Given the description of an element on the screen output the (x, y) to click on. 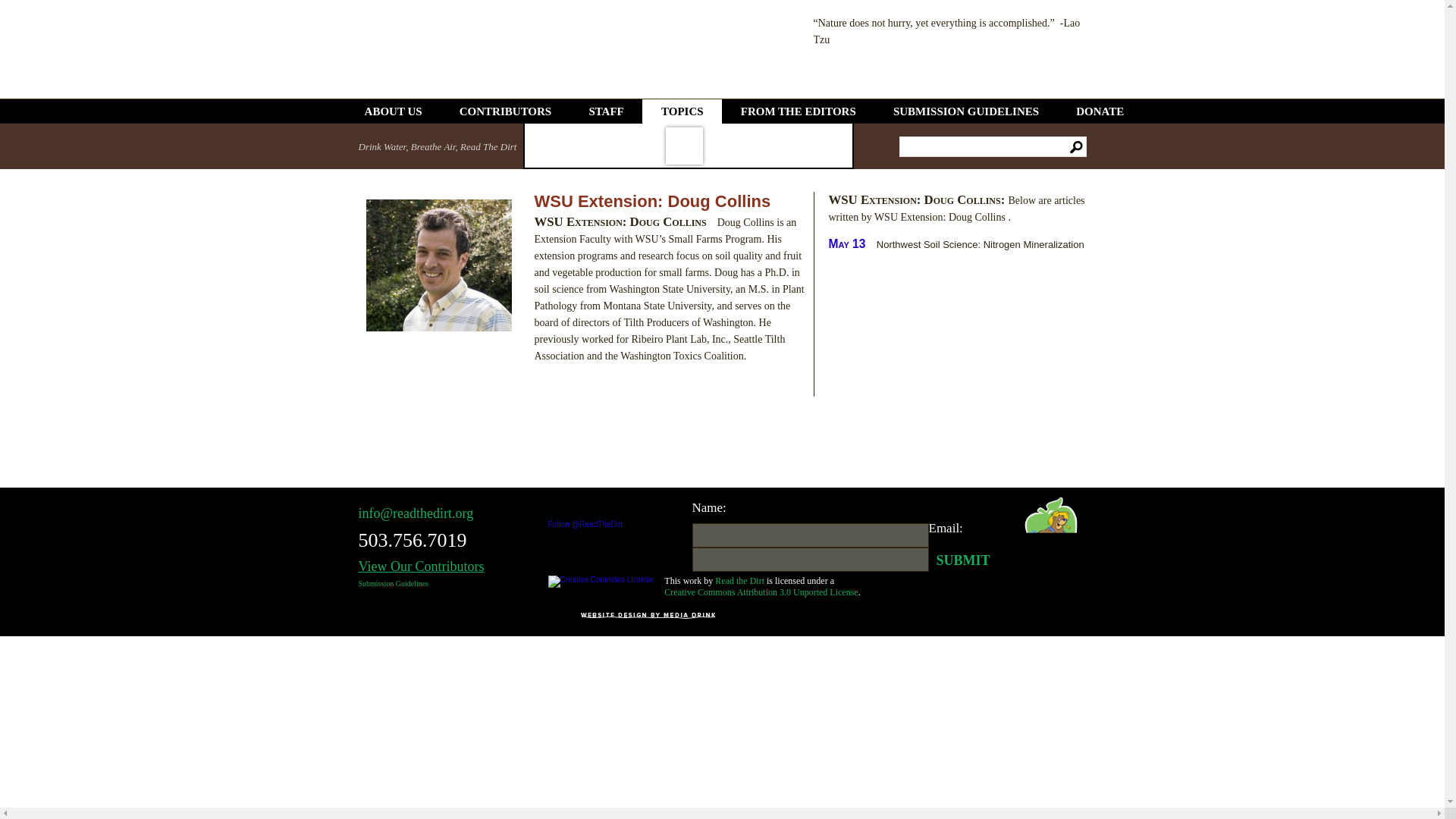
CONTRIBUTORS (505, 111)
Submit (959, 559)
Read the Dirt (739, 580)
COMMUNITY RIGHTS (684, 145)
flora (774, 146)
dirt (548, 146)
DIRT (548, 146)
FAUNA (729, 146)
DONATE (1100, 111)
ideas (821, 146)
